Given the description of an element on the screen output the (x, y) to click on. 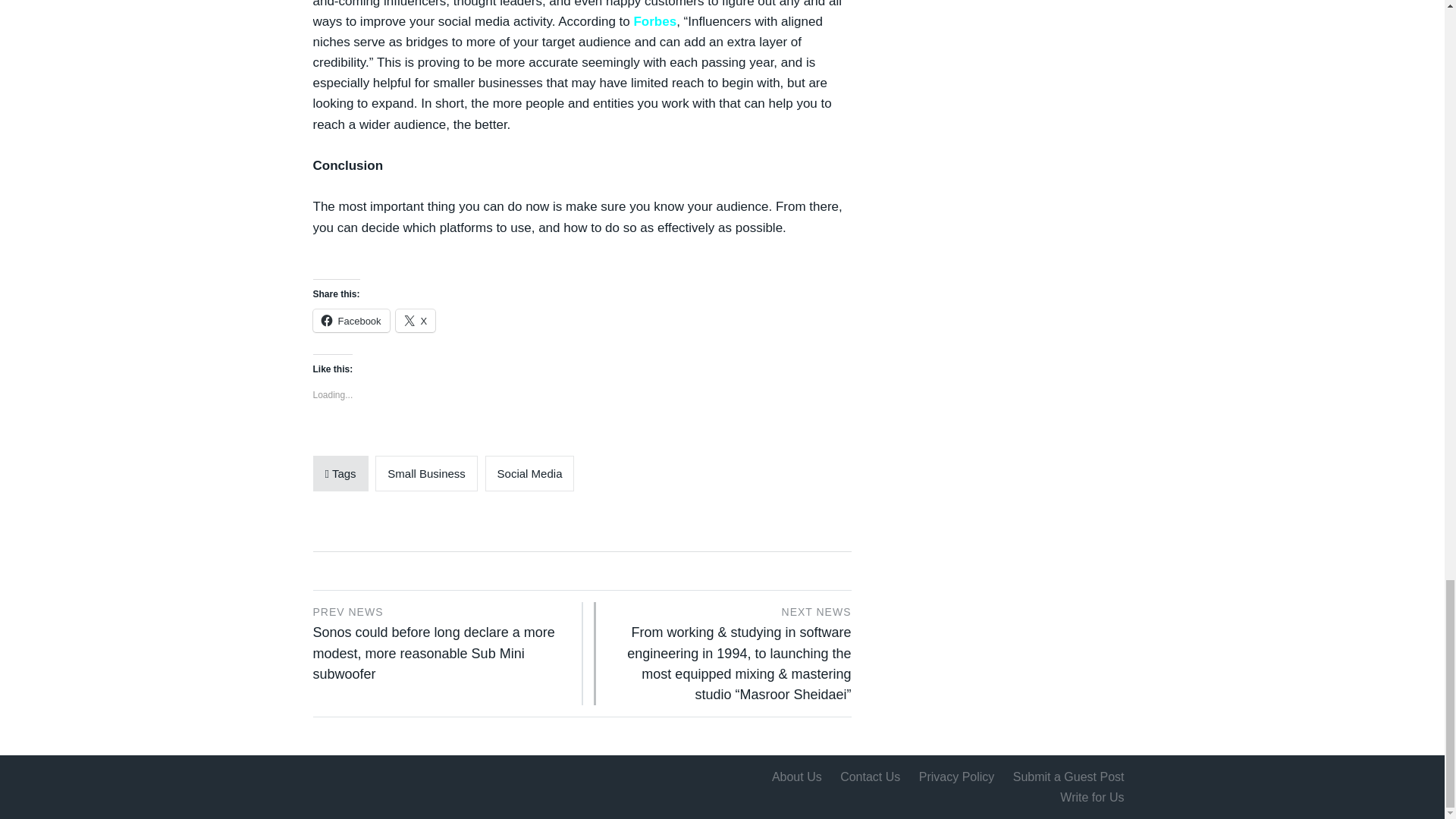
Social Media (529, 473)
X (415, 320)
Click to share on Facebook (350, 320)
Forbes (655, 21)
Facebook (350, 320)
Small Business (426, 473)
Click to share on X (415, 320)
